Given the description of an element on the screen output the (x, y) to click on. 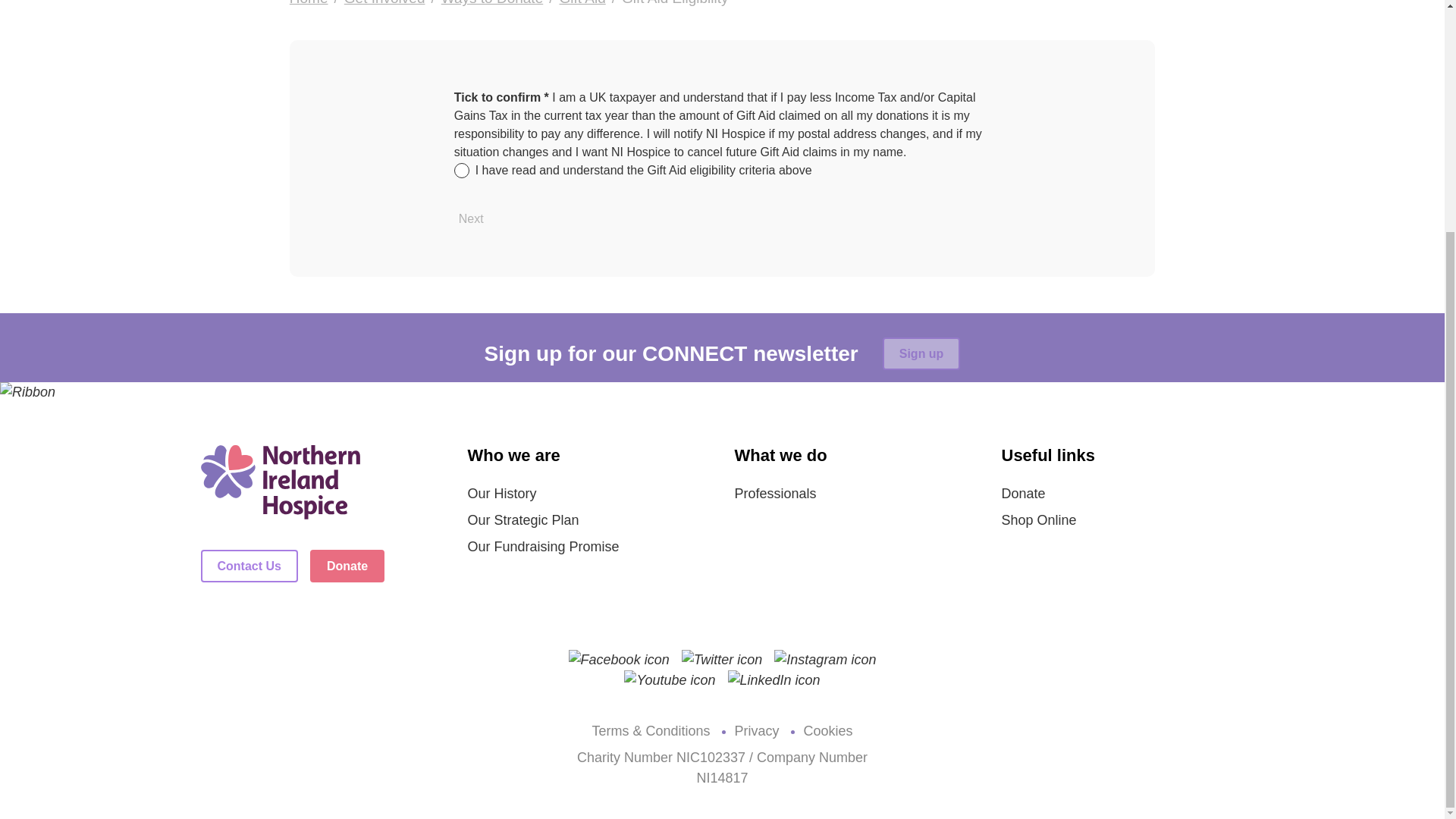
Next (470, 218)
